Given the description of an element on the screen output the (x, y) to click on. 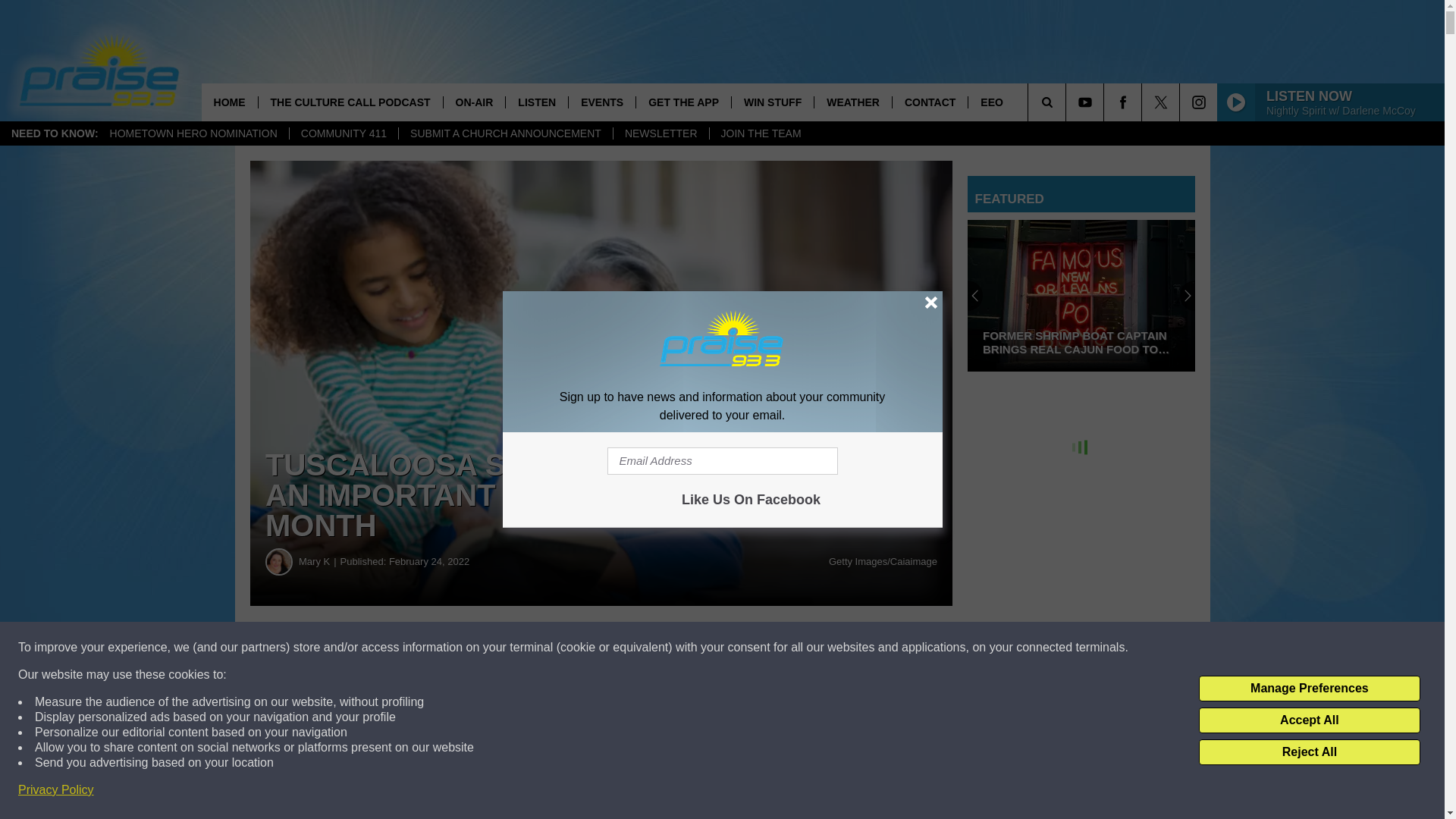
JOIN THE TEAM (760, 133)
Email Address (722, 461)
COMMUNITY 411 (342, 133)
HOMETOWN HERO NOMINATION (193, 133)
Reject All (1309, 751)
NEWSLETTER (660, 133)
ON-AIR (473, 102)
WIN STUFF (771, 102)
Share on Facebook (460, 647)
SUBMIT A CHURCH ANNOUNCEMENT (504, 133)
Accept All (1309, 720)
LISTEN (536, 102)
Share on Twitter (741, 647)
Manage Preferences (1309, 688)
Privacy Policy (55, 789)
